Given the description of an element on the screen output the (x, y) to click on. 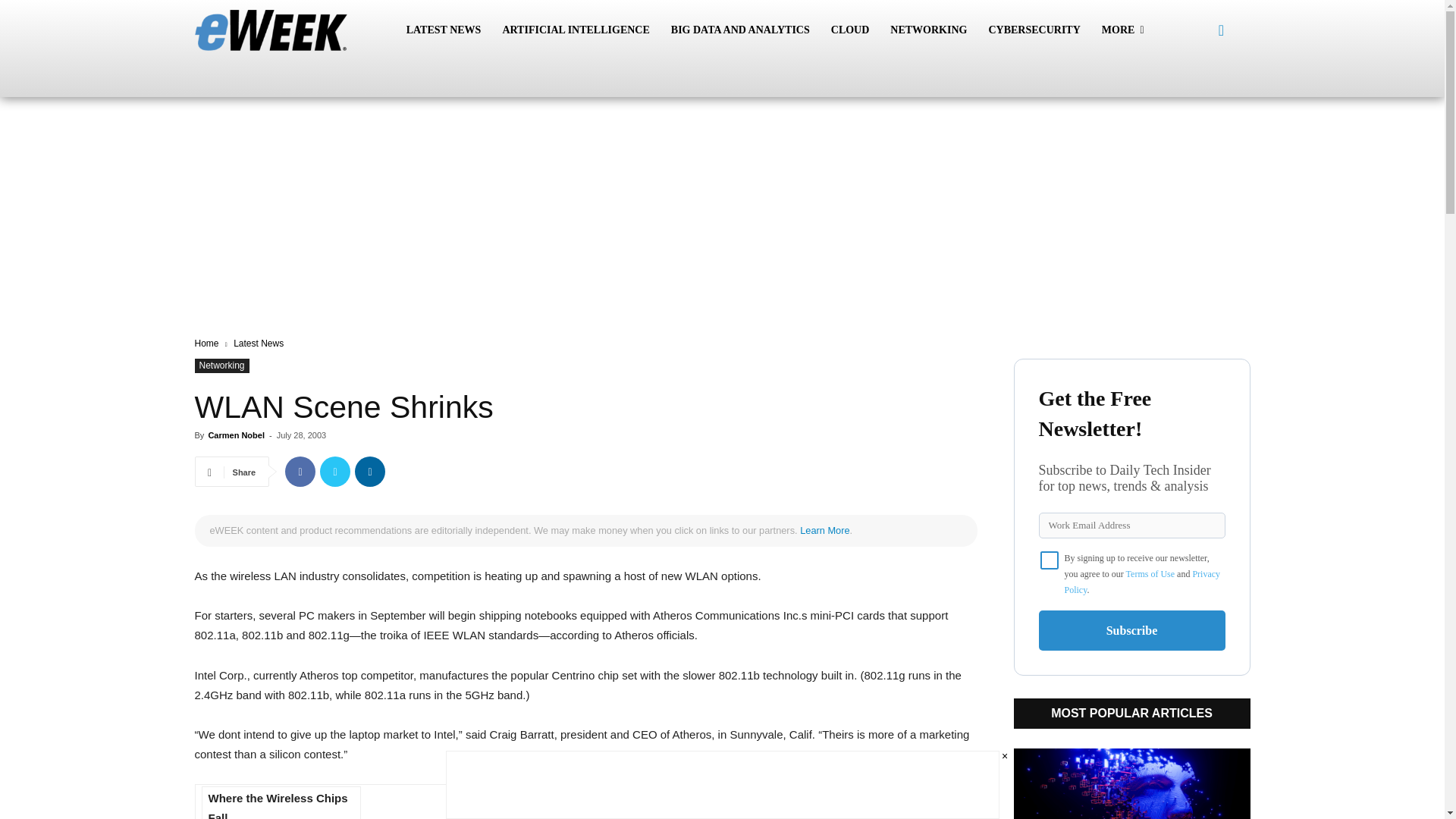
CYBERSECURITY (1033, 30)
NETWORKING (927, 30)
Twitter (335, 471)
CLOUD (850, 30)
Facebook (300, 471)
ARTIFICIAL INTELLIGENCE (575, 30)
on (1049, 560)
Linkedin (370, 471)
BIG DATA AND ANALYTICS (741, 30)
LATEST NEWS (444, 30)
